Given the description of an element on the screen output the (x, y) to click on. 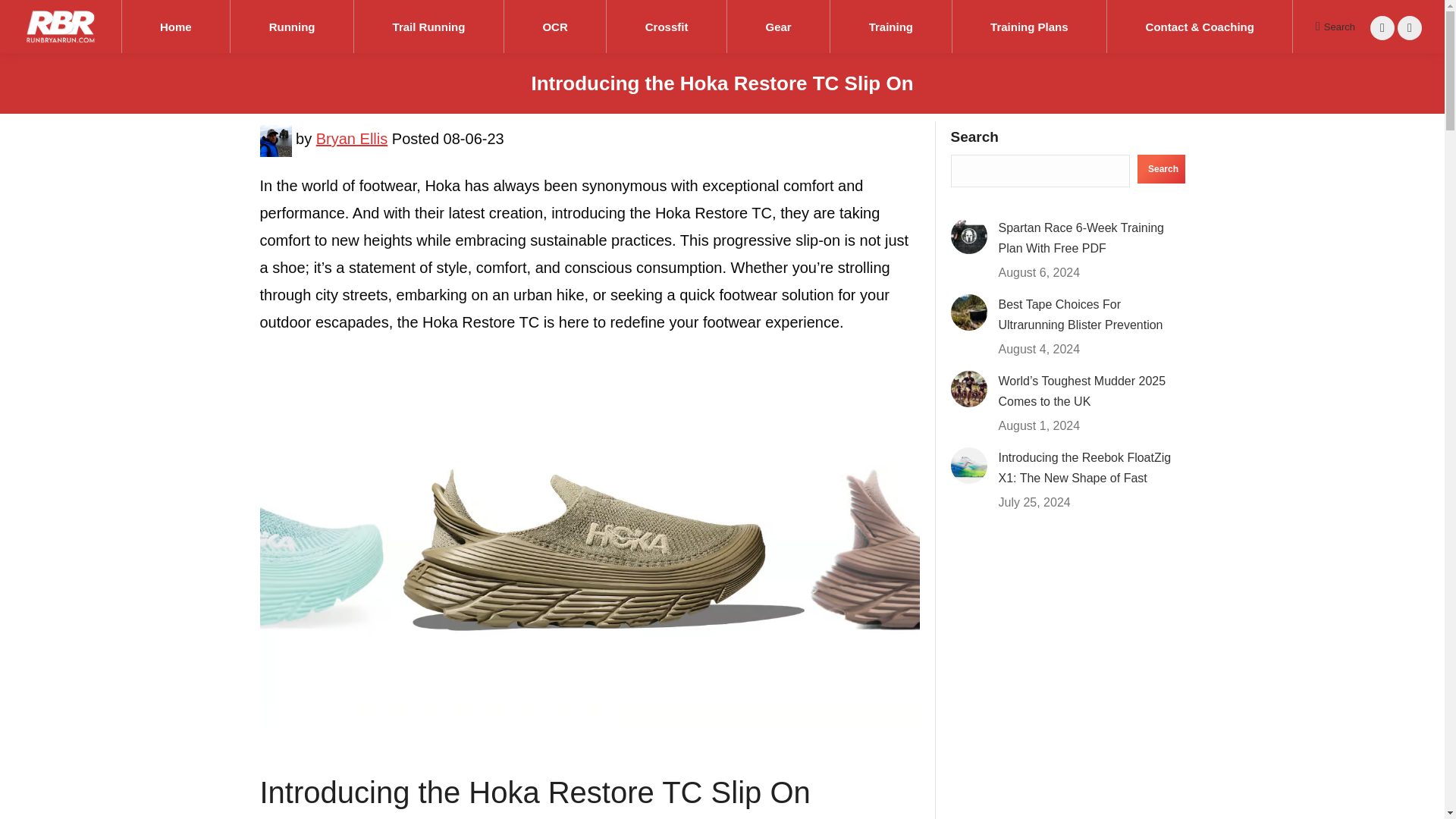
Instagram page opens in new window (1382, 27)
Search (1335, 25)
Gear (777, 26)
Training (890, 26)
Home (175, 26)
Crossfit (666, 26)
Go! (24, 17)
Facebook page opens in new window (1409, 27)
Running (291, 26)
Bryan Ellis (351, 144)
